Given the description of an element on the screen output the (x, y) to click on. 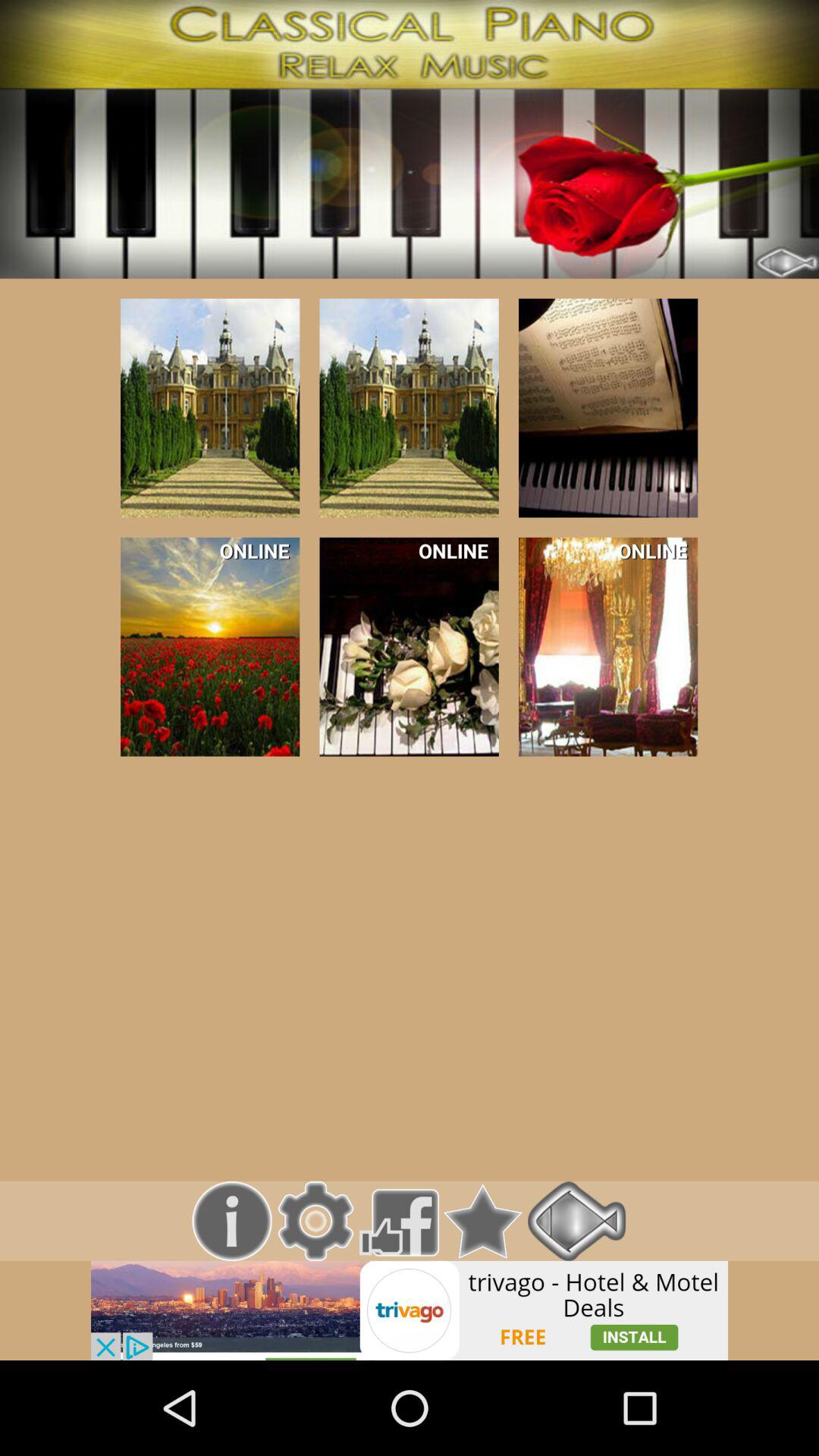
select the number (209, 407)
